Given the description of an element on the screen output the (x, y) to click on. 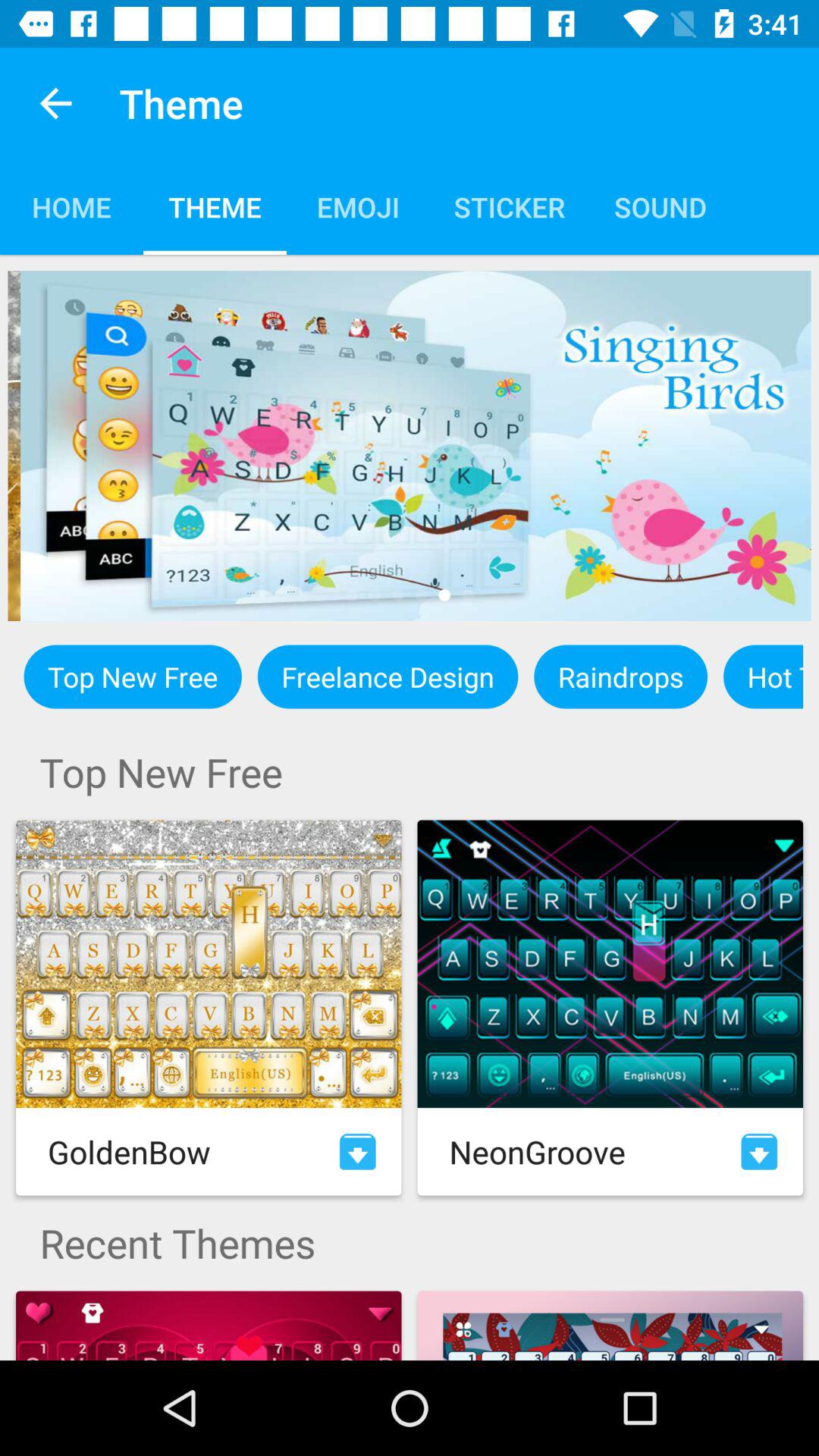
launch the icon next to raindrops item (763, 676)
